Given the description of an element on the screen output the (x, y) to click on. 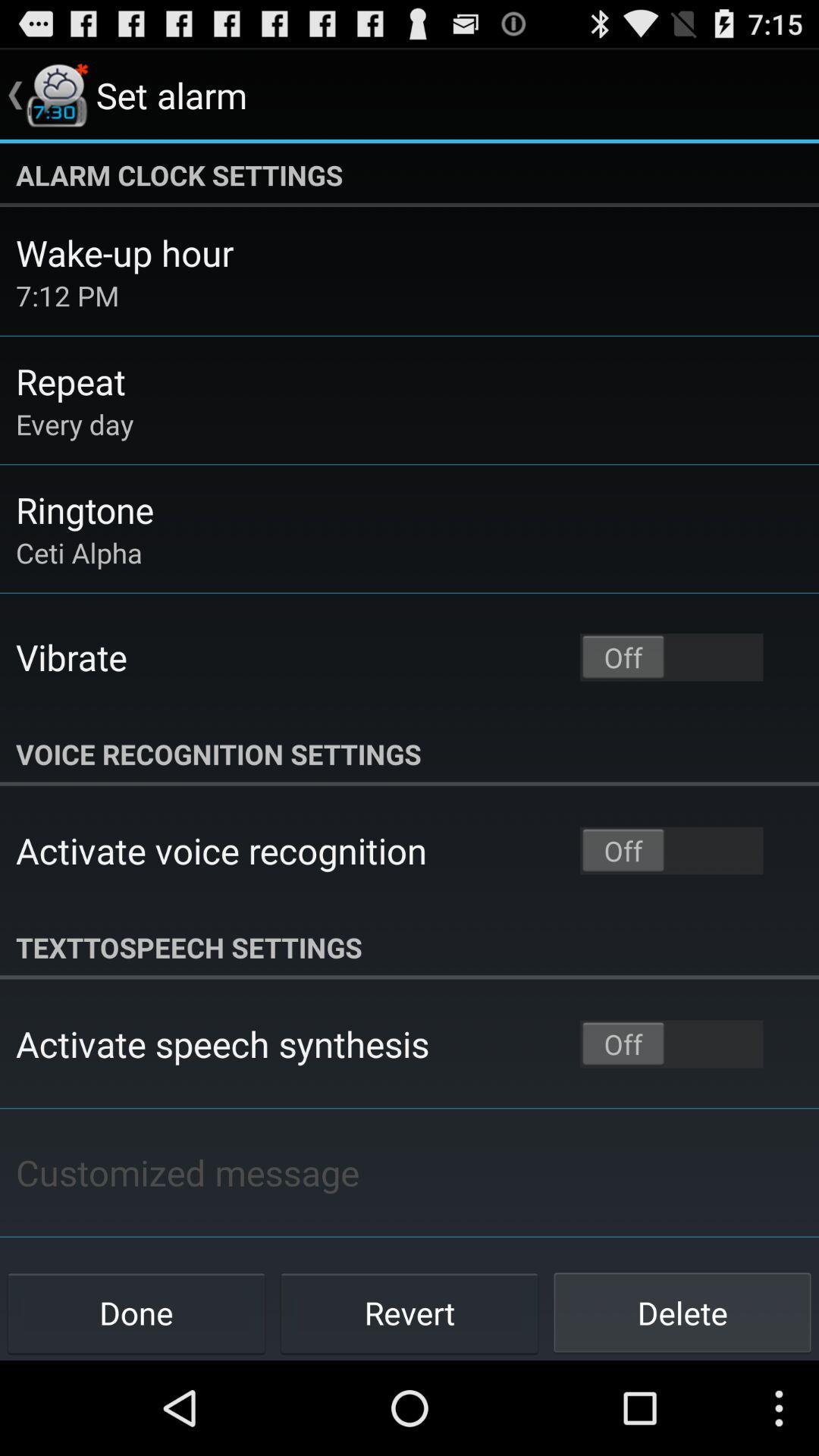
swipe to ringtone item (84, 509)
